Given the description of an element on the screen output the (x, y) to click on. 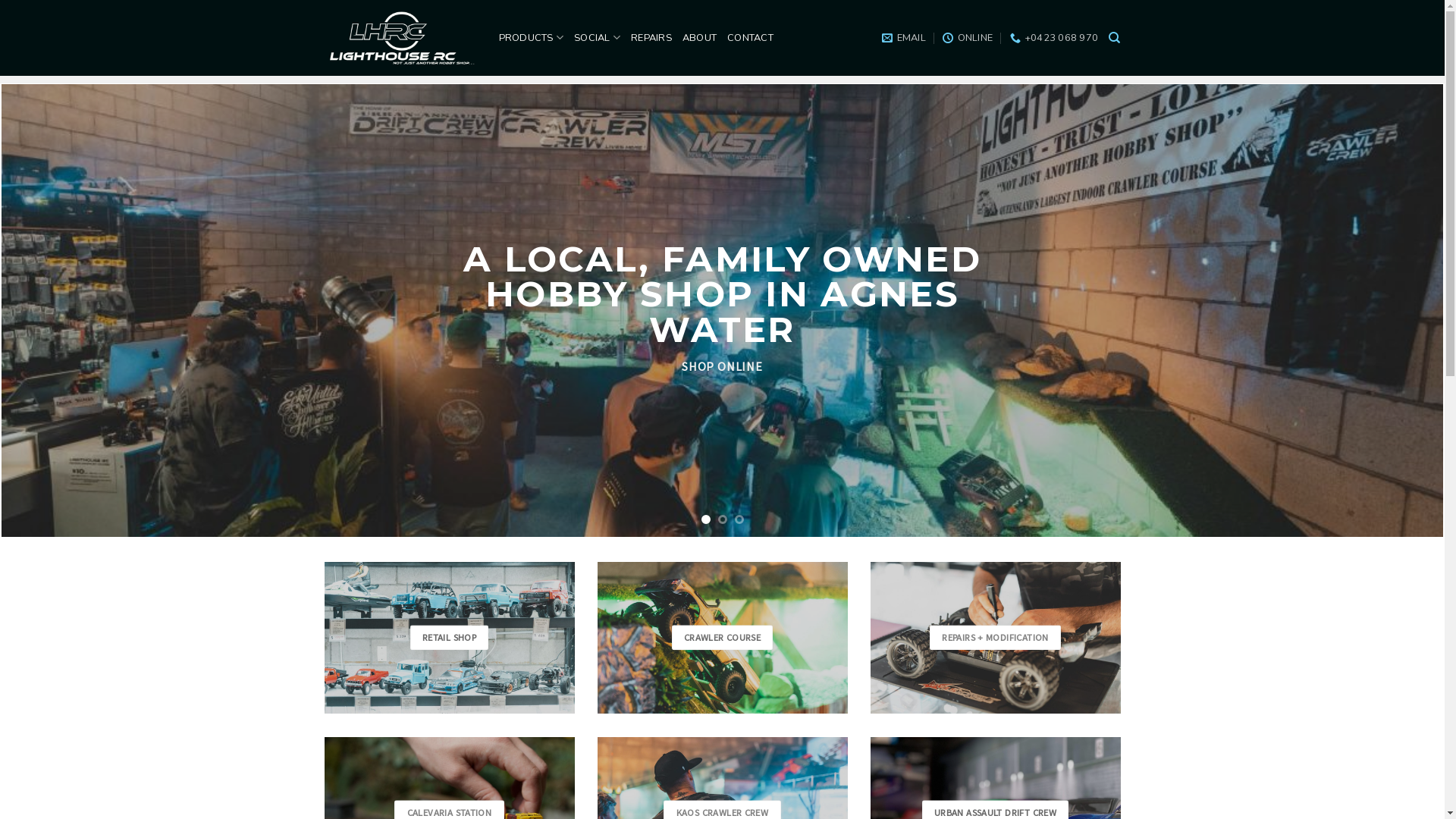
REPAIRS + MODIFICATION Element type: text (994, 637)
RETAIL SHOP Element type: text (449, 637)
Lighthouse RC - "Not just another Hobby Shop" Element type: hover (400, 38)
ONLINE Element type: text (967, 38)
+0423 068 970 Element type: text (1054, 38)
SOCIAL Element type: text (597, 37)
REPAIRS Element type: text (650, 37)
EMAIL Element type: text (903, 38)
CONTACT Element type: text (750, 37)
CRAWLER COURSE Element type: text (722, 637)
PRODUCTS Element type: text (531, 37)
ABOUT Element type: text (699, 37)
